Given the description of an element on the screen output the (x, y) to click on. 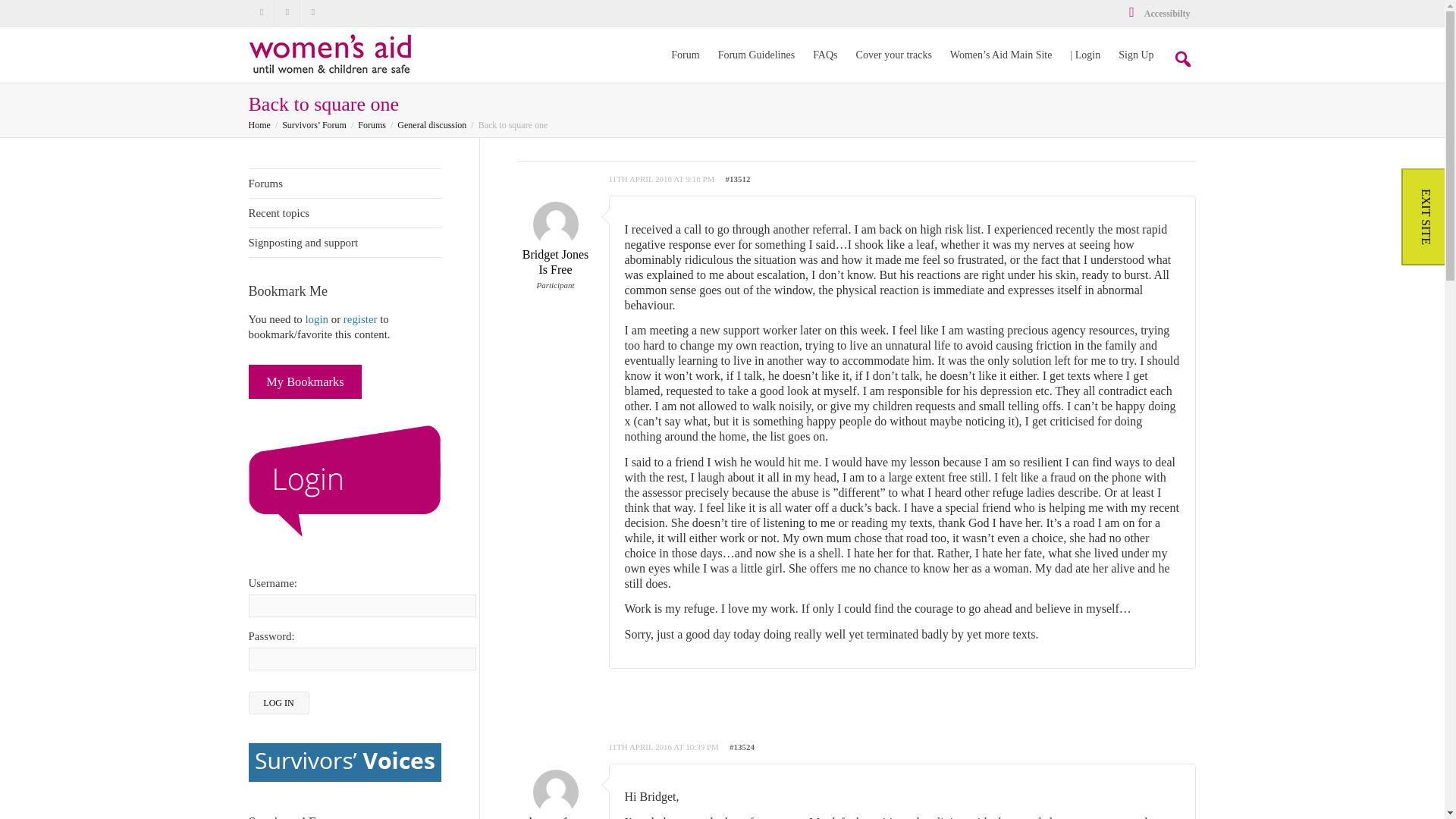
Survivors' Forum (332, 51)
My Bookmarks (305, 381)
Women's Aid Main Site (1001, 54)
Home (259, 124)
View lover of no contact's profile (554, 801)
lover of no contact (554, 801)
Cover your tracks (893, 54)
General discussion (431, 124)
Forum Guidelines (755, 54)
login (316, 318)
General discussion (431, 124)
Forum Guidelines (755, 54)
Recent topics (344, 213)
Forums (344, 183)
register (360, 318)
